Given the description of an element on the screen output the (x, y) to click on. 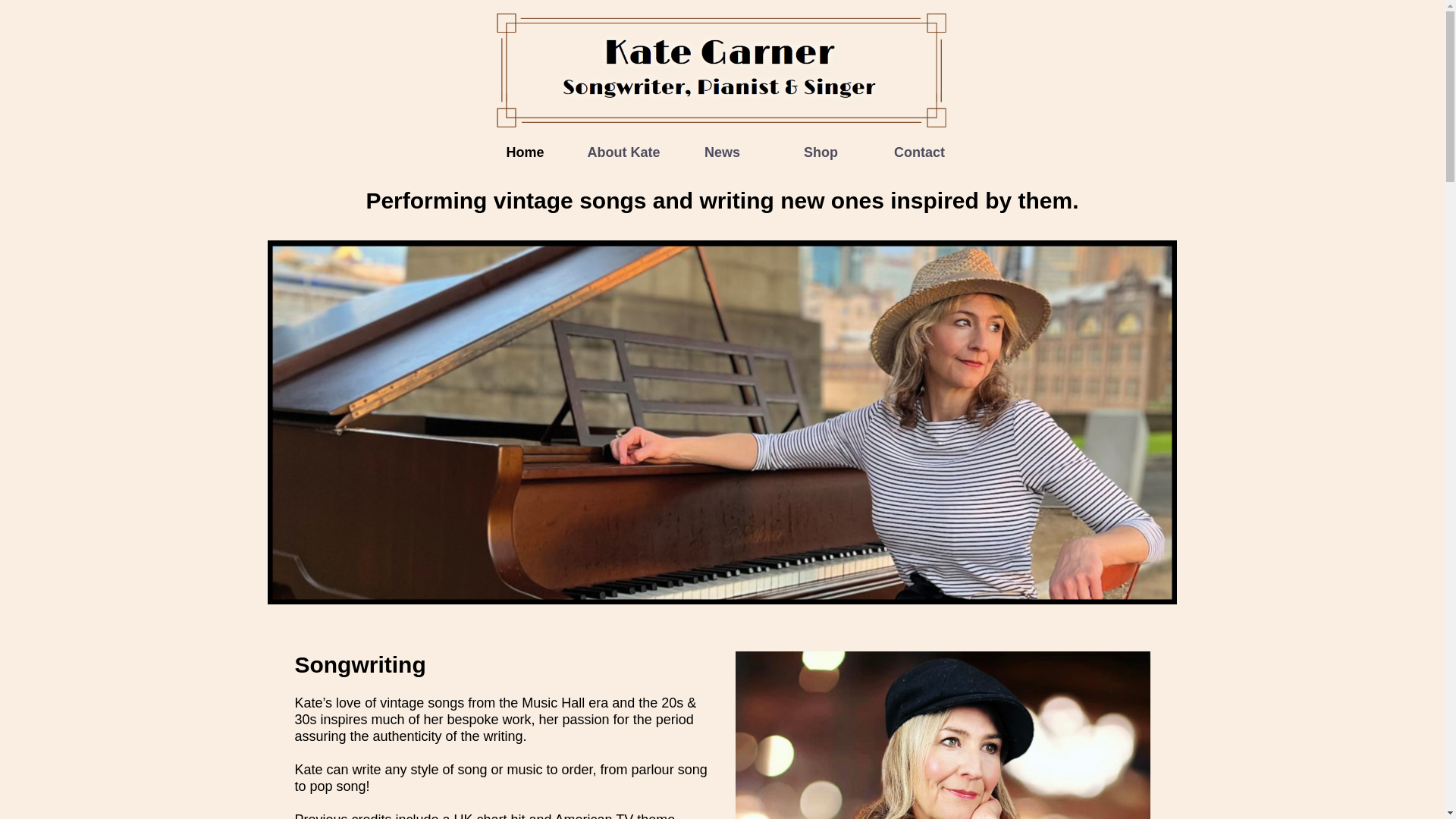
Shop (820, 152)
About Kate (623, 152)
Contact (919, 152)
News (721, 152)
Home (525, 152)
